Given the description of an element on the screen output the (x, y) to click on. 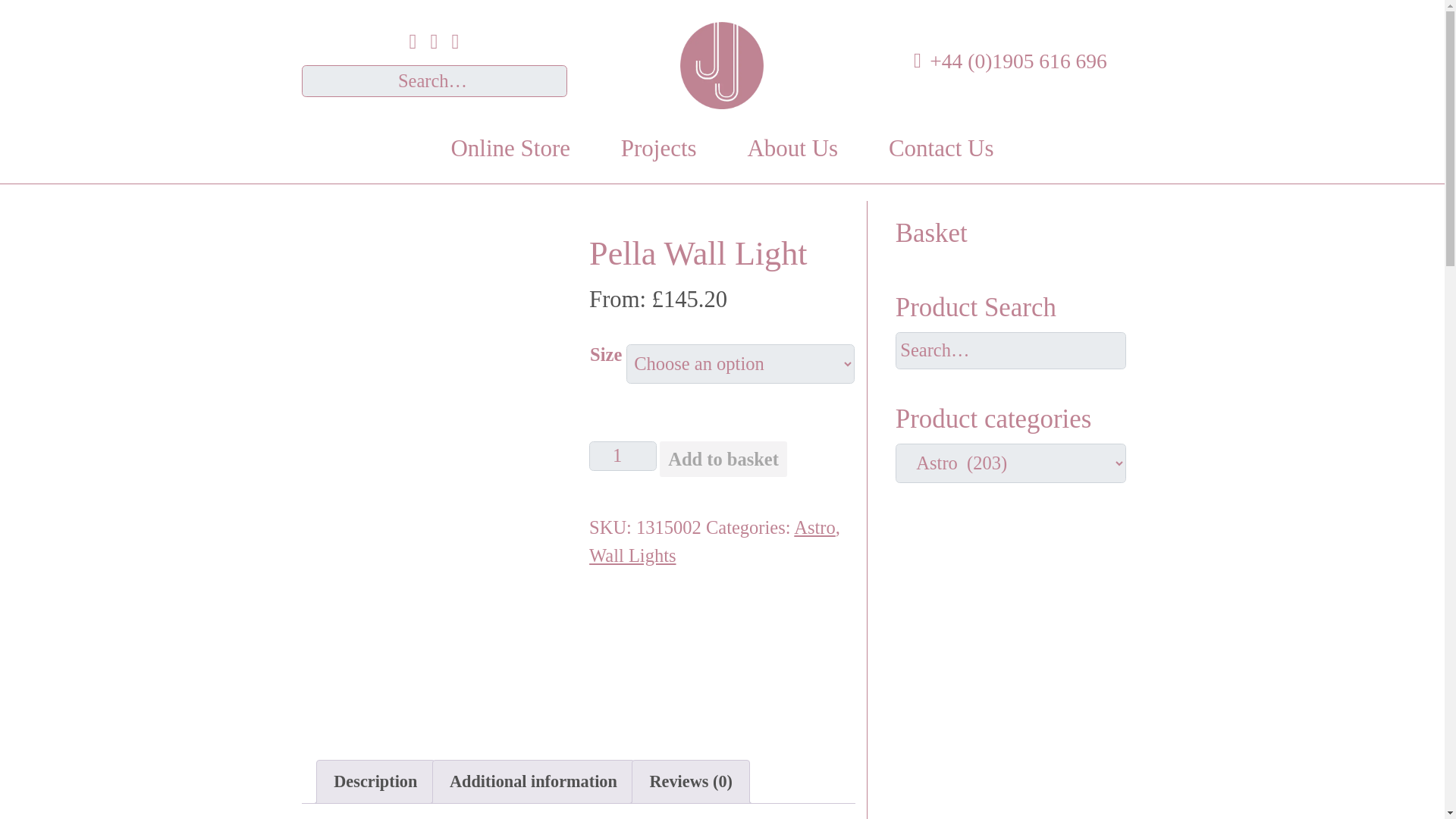
Astro (813, 526)
Contact Us (941, 149)
Additional information (533, 781)
About Us (791, 149)
1 (622, 455)
Online Store (510, 149)
Description (374, 781)
Contact Us (941, 149)
Projects (658, 149)
